Given the description of an element on the screen output the (x, y) to click on. 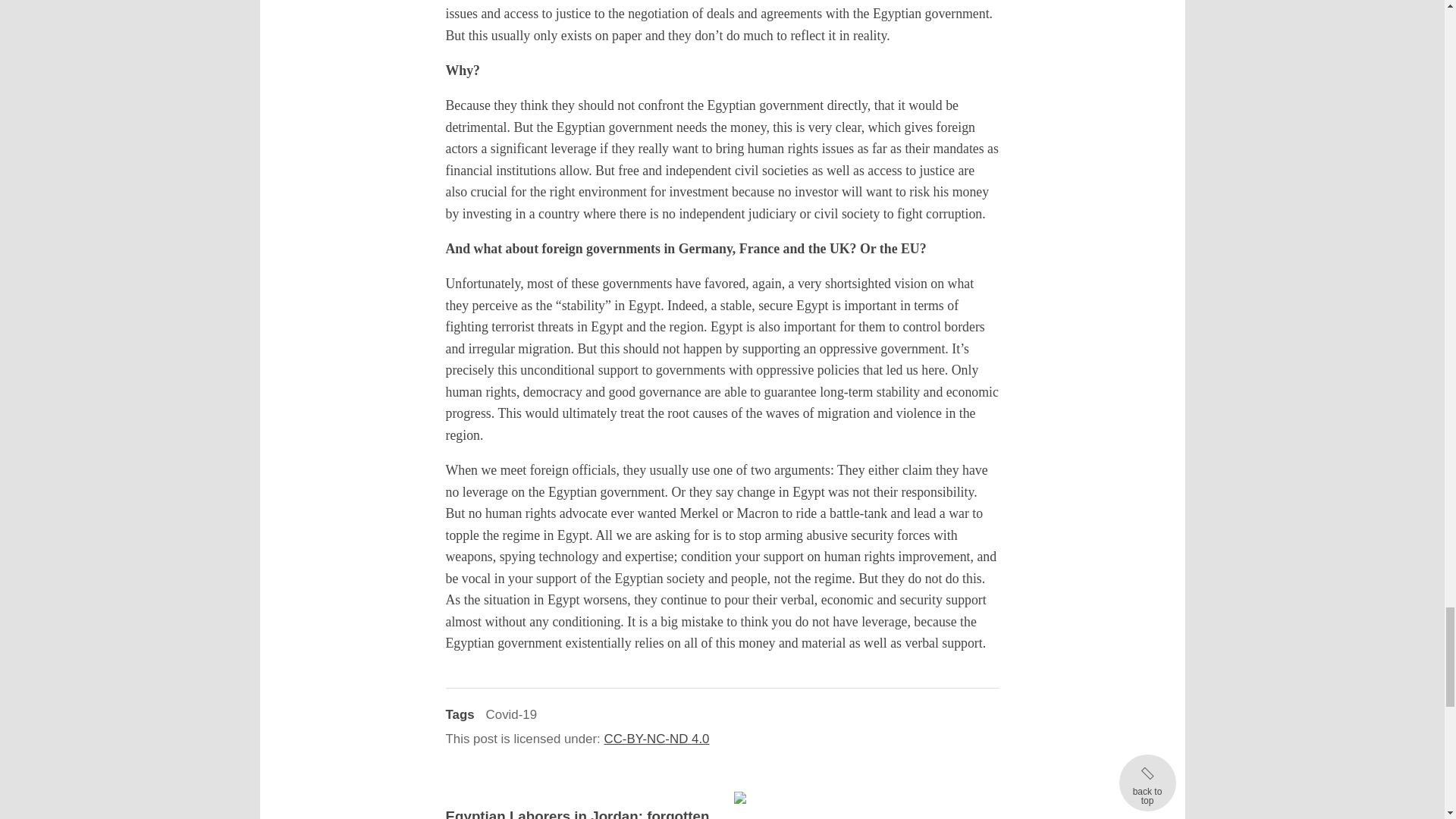
CC-BY-NC-ND 4.0 (663, 739)
Covid-19 (511, 714)
